Given the description of an element on the screen output the (x, y) to click on. 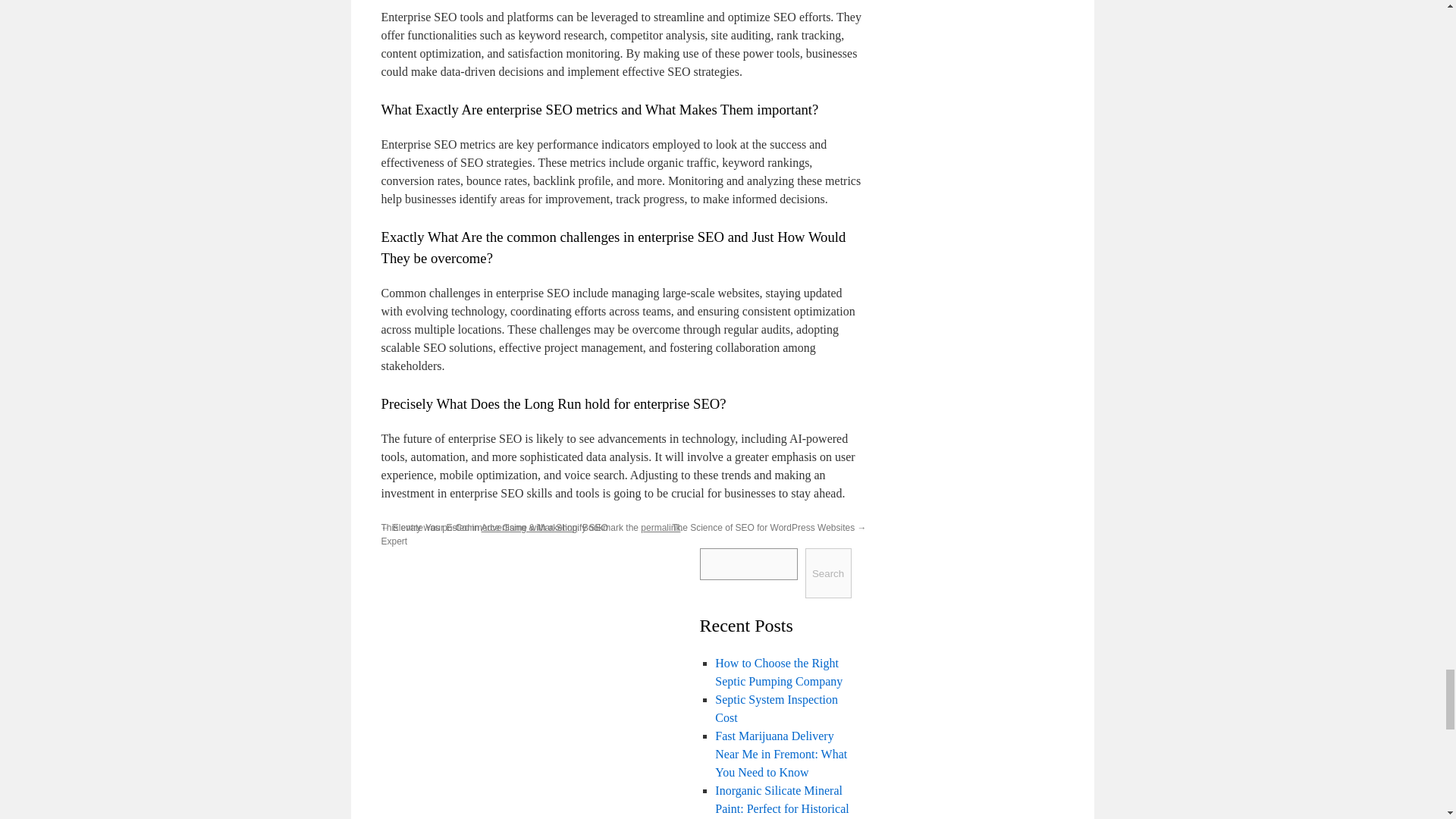
Septic System Inspection Cost (776, 707)
permalink (659, 527)
Permalink to Comparing Enterprise SEO Agencies (659, 527)
Search (828, 572)
How to Choose the Right Septic Pumping Company (778, 671)
